Given the description of an element on the screen output the (x, y) to click on. 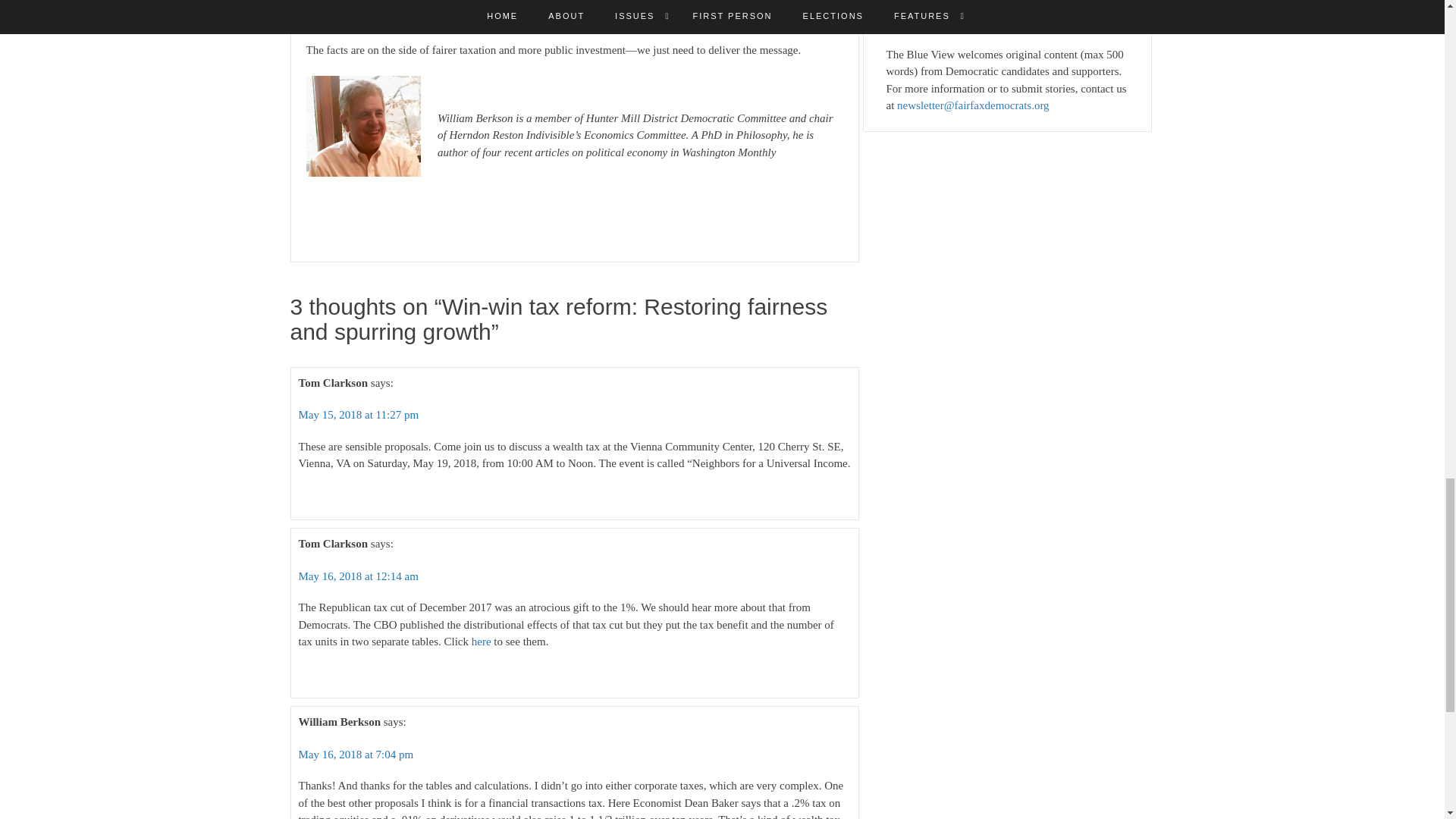
May 16, 2018 at 7:04 pm (355, 754)
here (481, 641)
May 15, 2018 at 11:27 pm (358, 414)
May 16, 2018 at 12:14 am (358, 576)
had (526, 2)
